Given the description of an element on the screen output the (x, y) to click on. 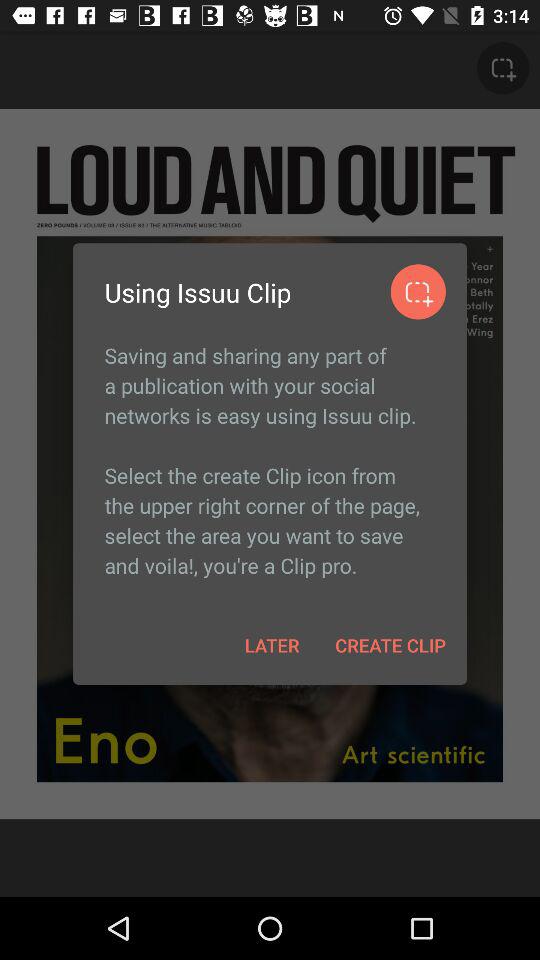
click later (272, 644)
